Given the description of an element on the screen output the (x, y) to click on. 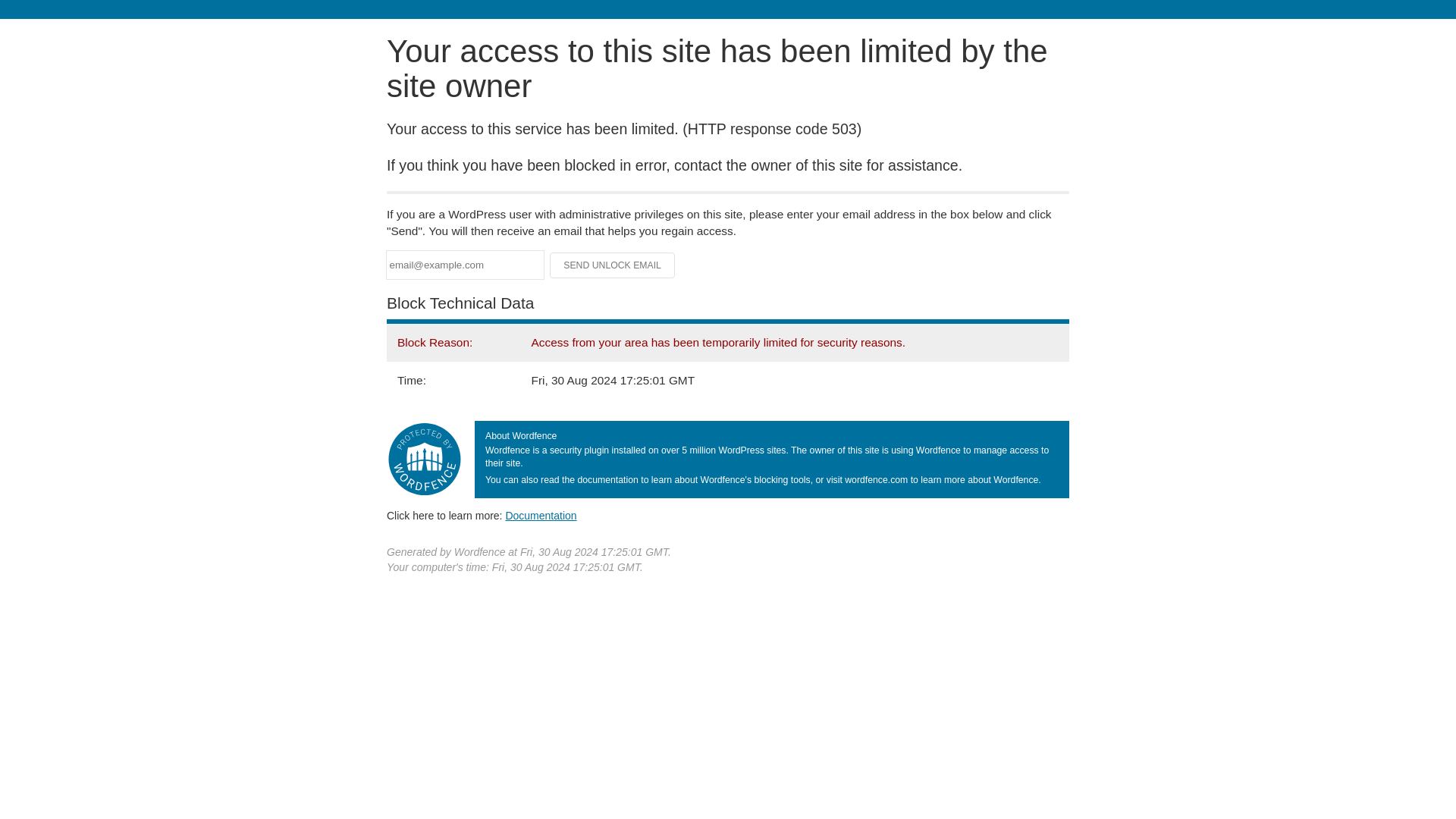
Send Unlock Email (612, 265)
Send Unlock Email (612, 265)
Documentation (540, 515)
